Given the description of an element on the screen output the (x, y) to click on. 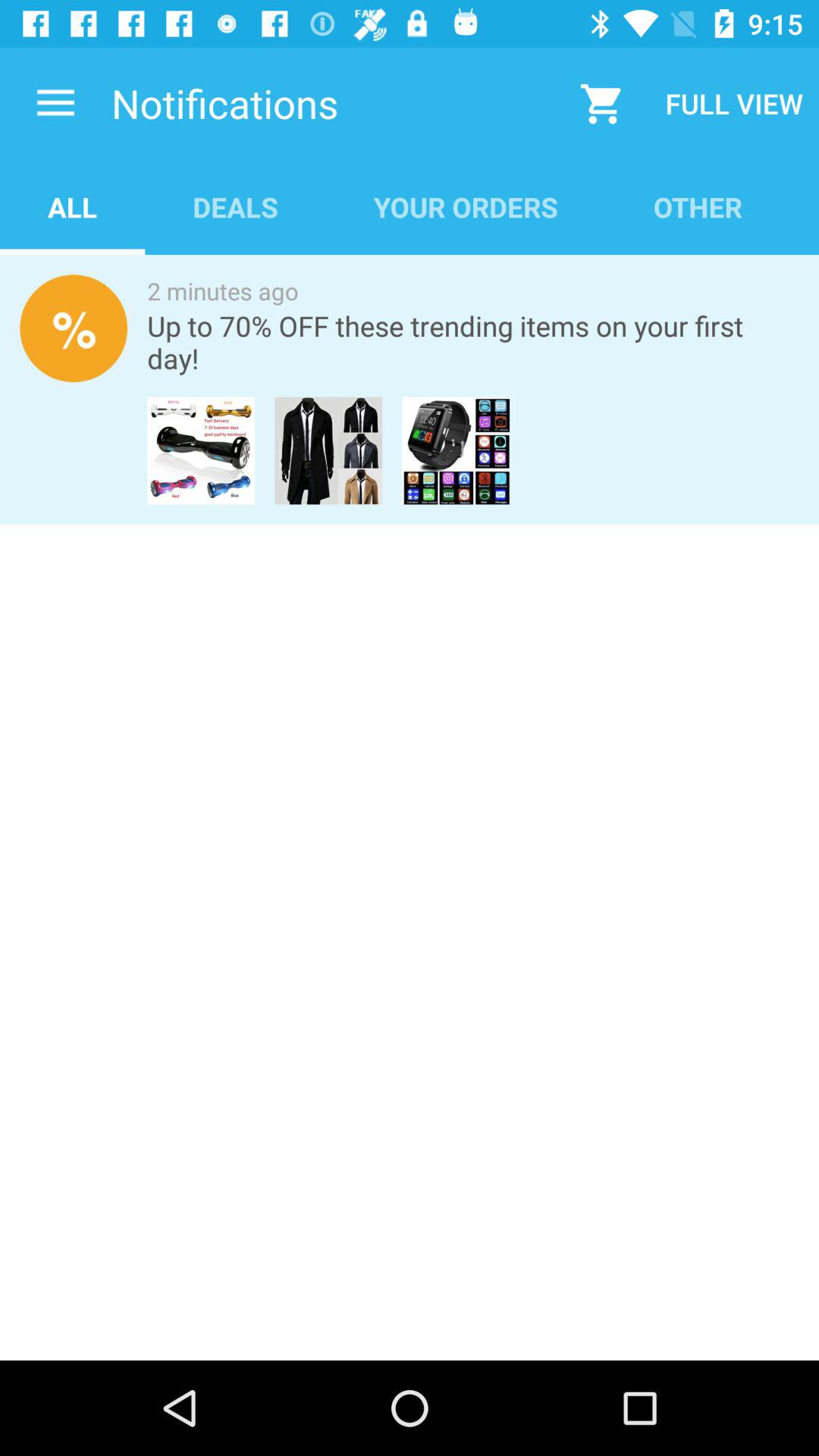
press item below full view icon (697, 206)
